Given the description of an element on the screen output the (x, y) to click on. 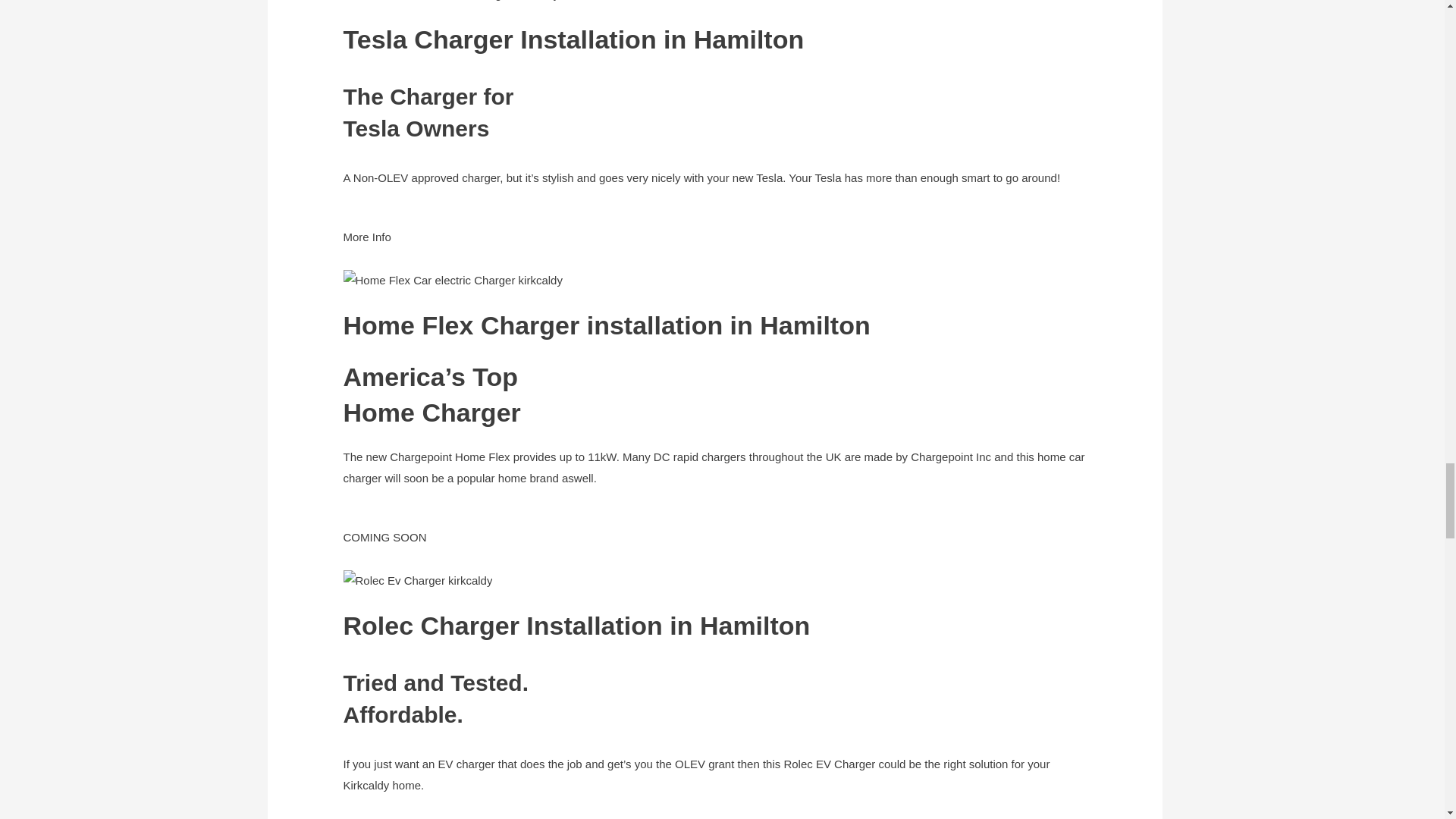
More Info (366, 247)
COMING SOON (384, 547)
